Given the description of an element on the screen output the (x, y) to click on. 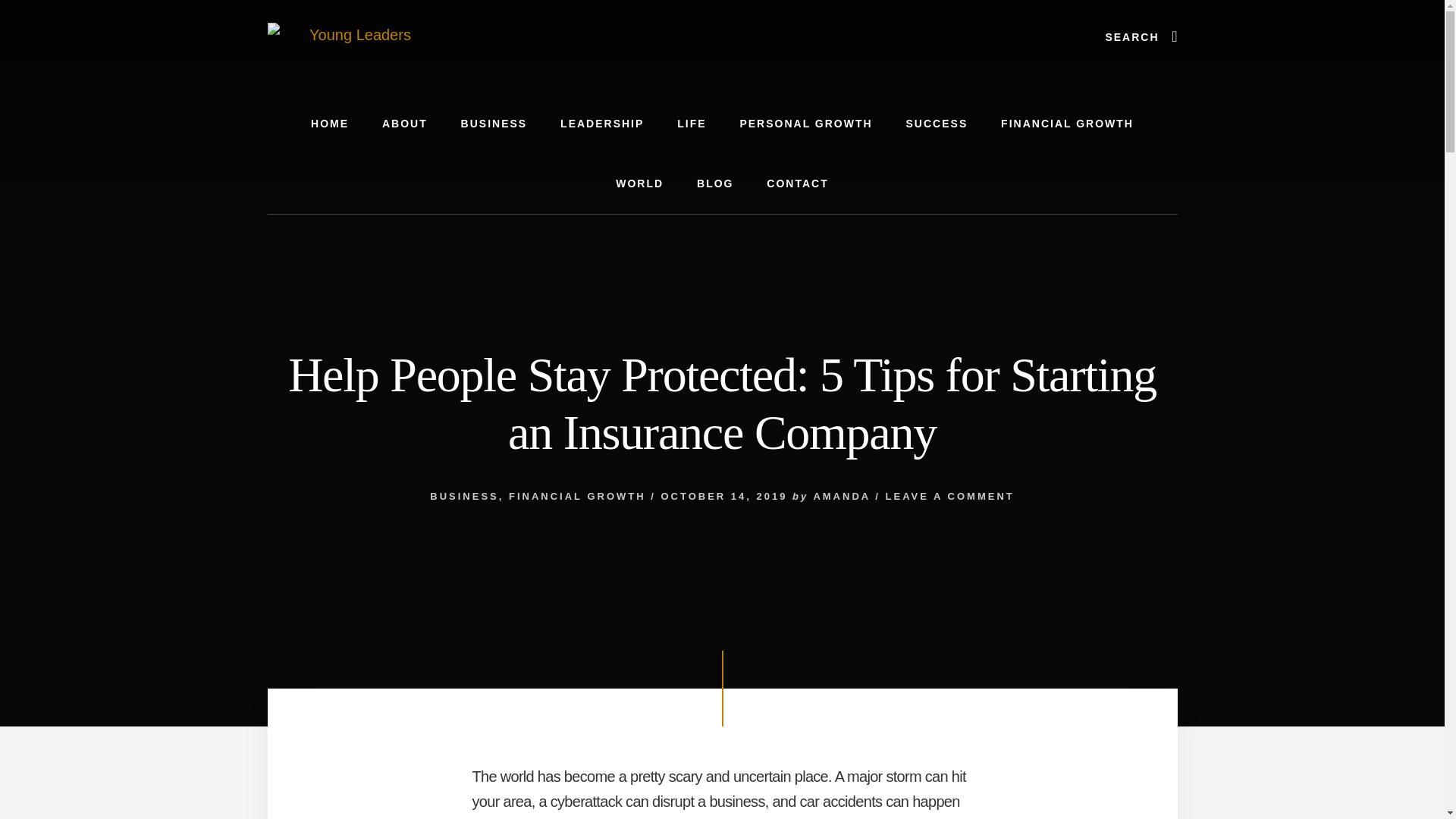
LEADERSHIP (601, 123)
BUSINESS (494, 123)
FINANCIAL GROWTH (1066, 123)
CONTACT (797, 183)
LIFE (691, 123)
ABOUT (404, 123)
FINANCIAL GROWTH (577, 496)
